Given the description of an element on the screen output the (x, y) to click on. 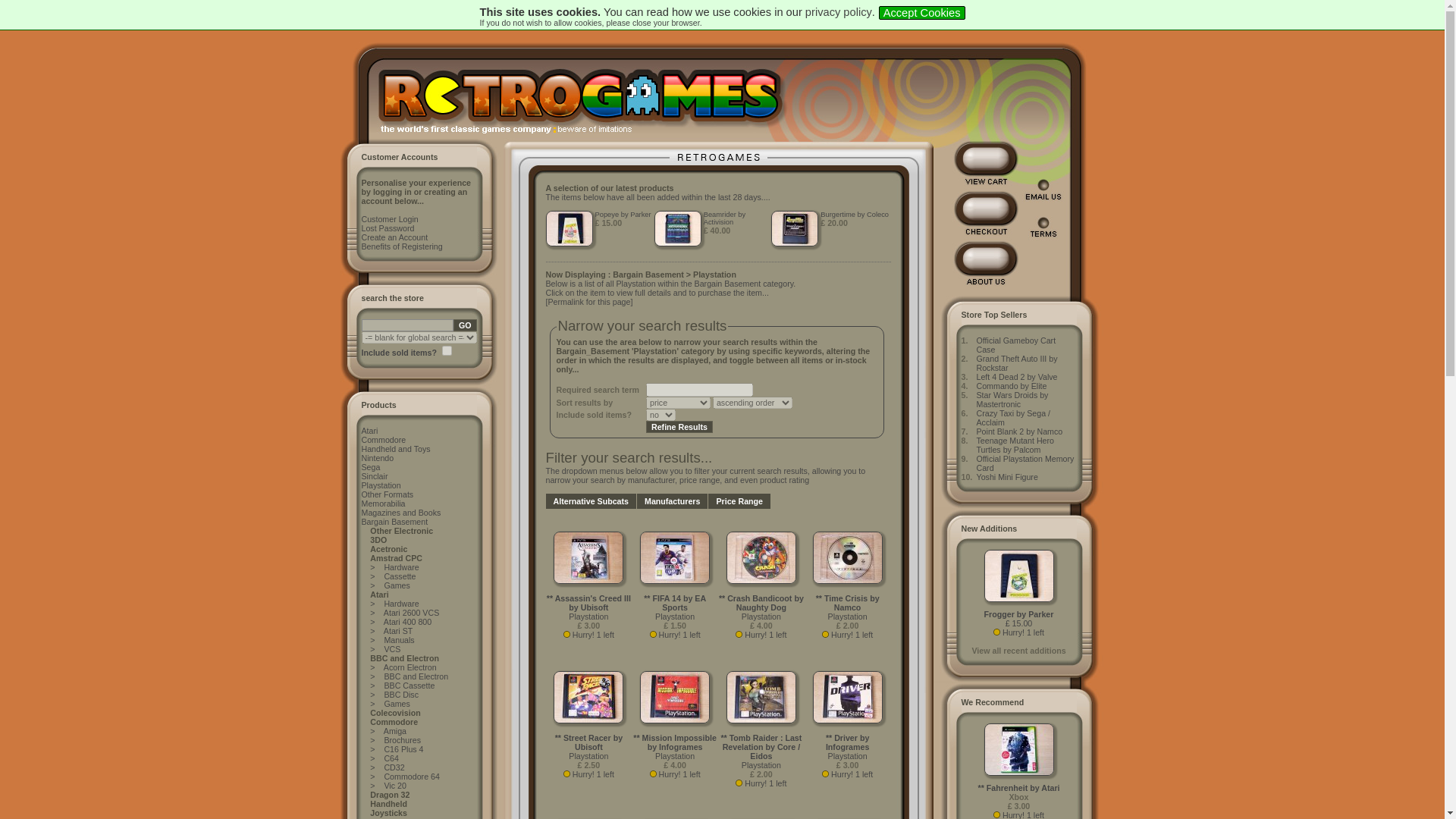
3DO (378, 539)
Benefits of Registering (401, 245)
BBC Cassette (408, 685)
Hardware (401, 603)
Memorabilia (382, 502)
Acorn Electron (410, 666)
Atari (369, 429)
Customer Login (389, 218)
Atari 400 800 (407, 621)
Cassette (399, 575)
GO (464, 325)
Magazines and Books (401, 511)
BBC and Electron (416, 675)
Colecovision (394, 712)
Games (396, 703)
